Given the description of an element on the screen output the (x, y) to click on. 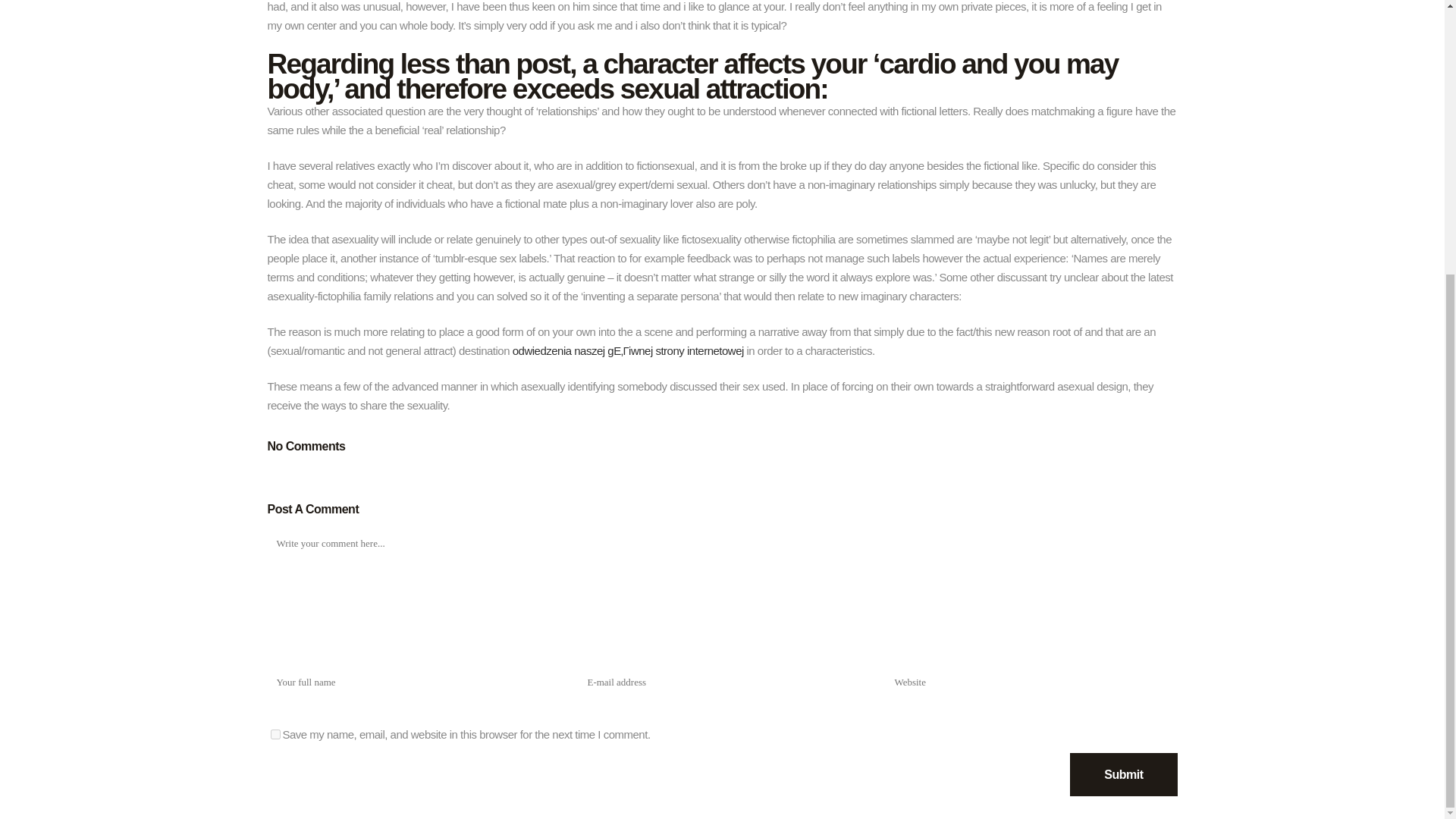
Submit (1123, 774)
yes (274, 734)
Submit (1123, 774)
